Given the description of an element on the screen output the (x, y) to click on. 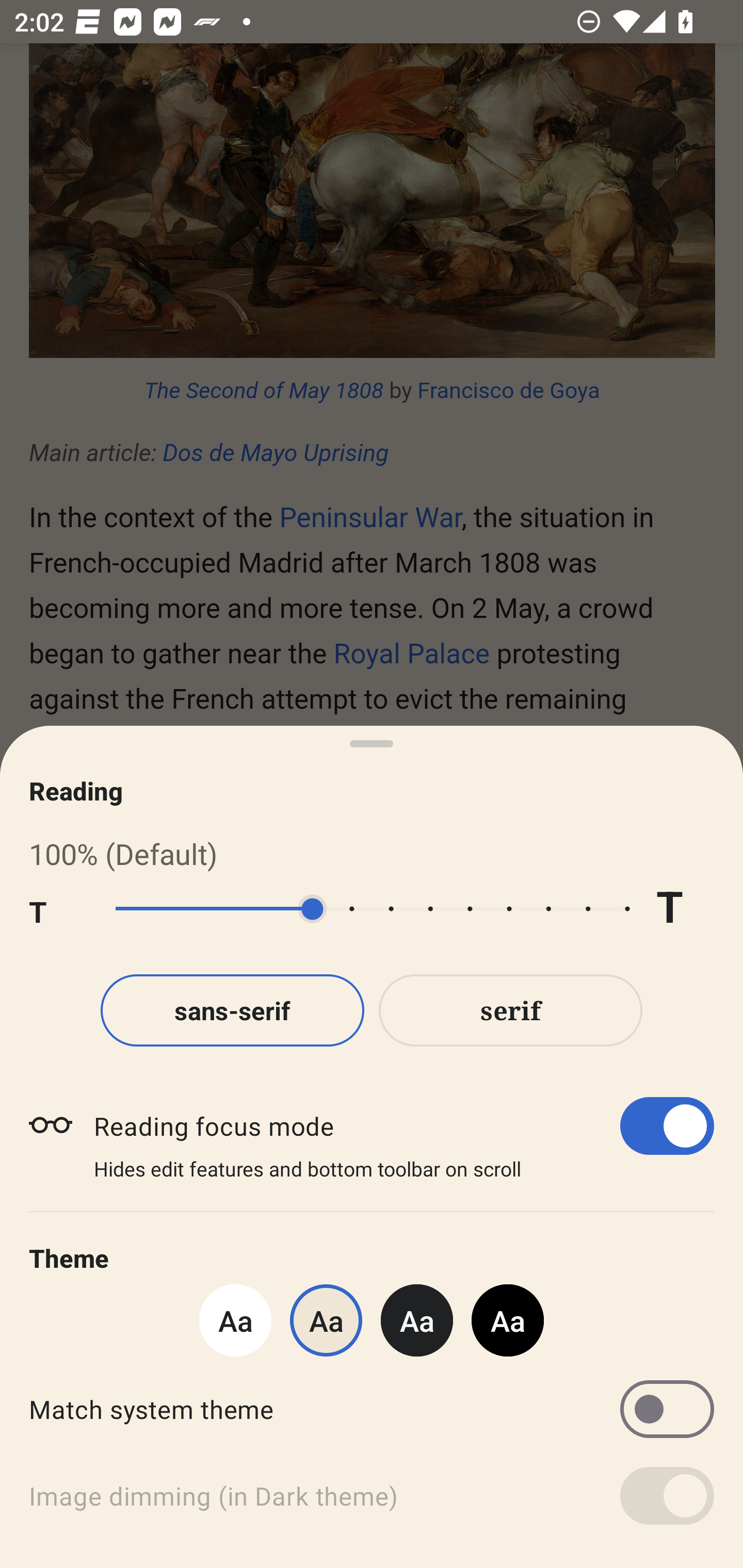
T Decrease text size (57, 909)
T Increase text size (685, 909)
sans-serif (232, 1010)
serif (510, 1010)
Reading focus mode (403, 1125)
Aa (235, 1320)
Aa (416, 1320)
Aa (507, 1320)
Match system theme (371, 1408)
Image dimming (in Dark theme) (371, 1495)
